Given the description of an element on the screen output the (x, y) to click on. 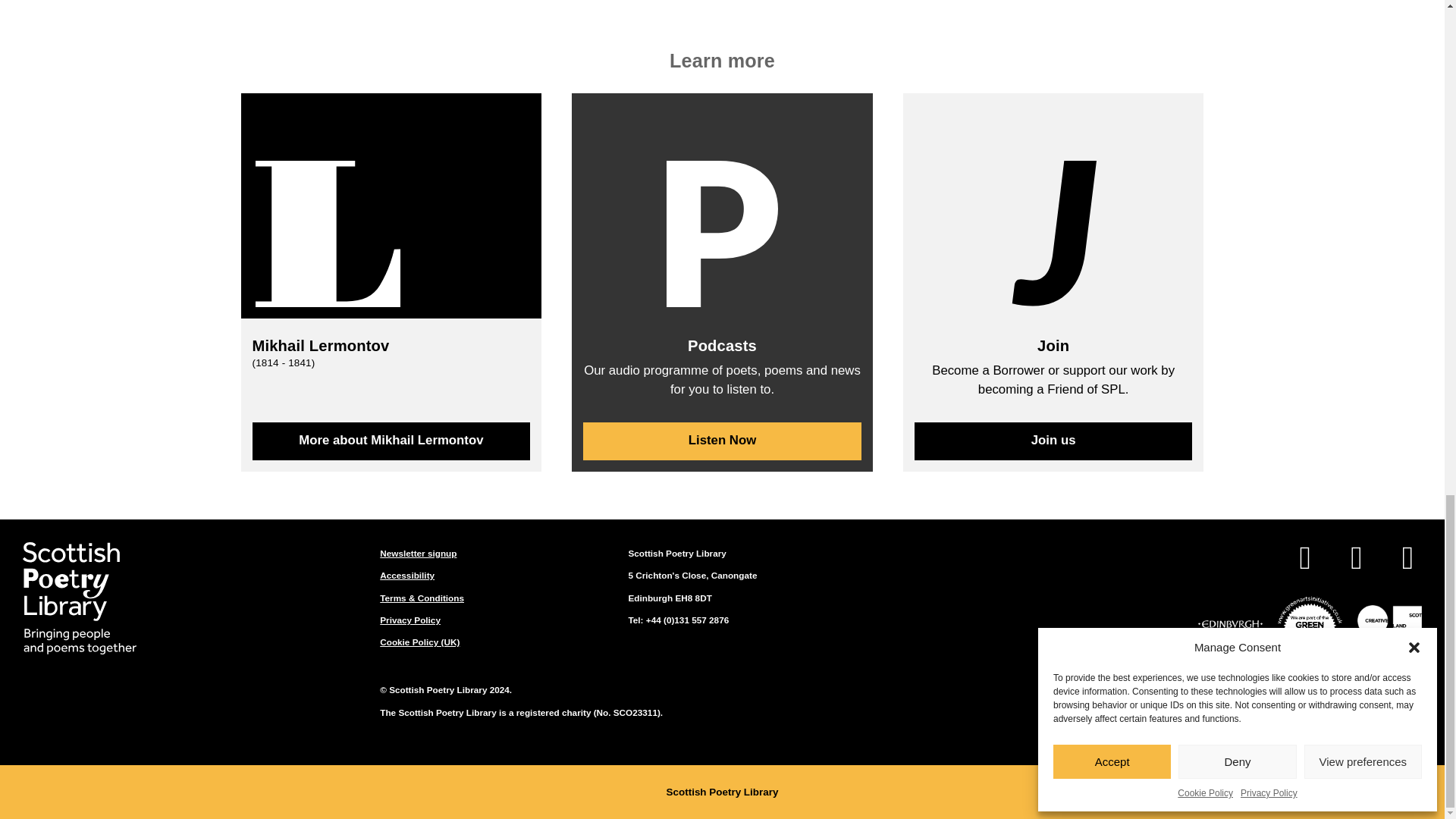
Creative Scotland (1389, 626)
Scottish Poetry Library on Instagram (1407, 560)
City of Edinburgh Council (1230, 626)
Scottish Poetry Library on Facebook (1304, 560)
Green Arts Initiative (1310, 626)
Scottish Poetry Library logo (79, 598)
Scottish Poetry Library on Twitter (1355, 560)
